Given the description of an element on the screen output the (x, y) to click on. 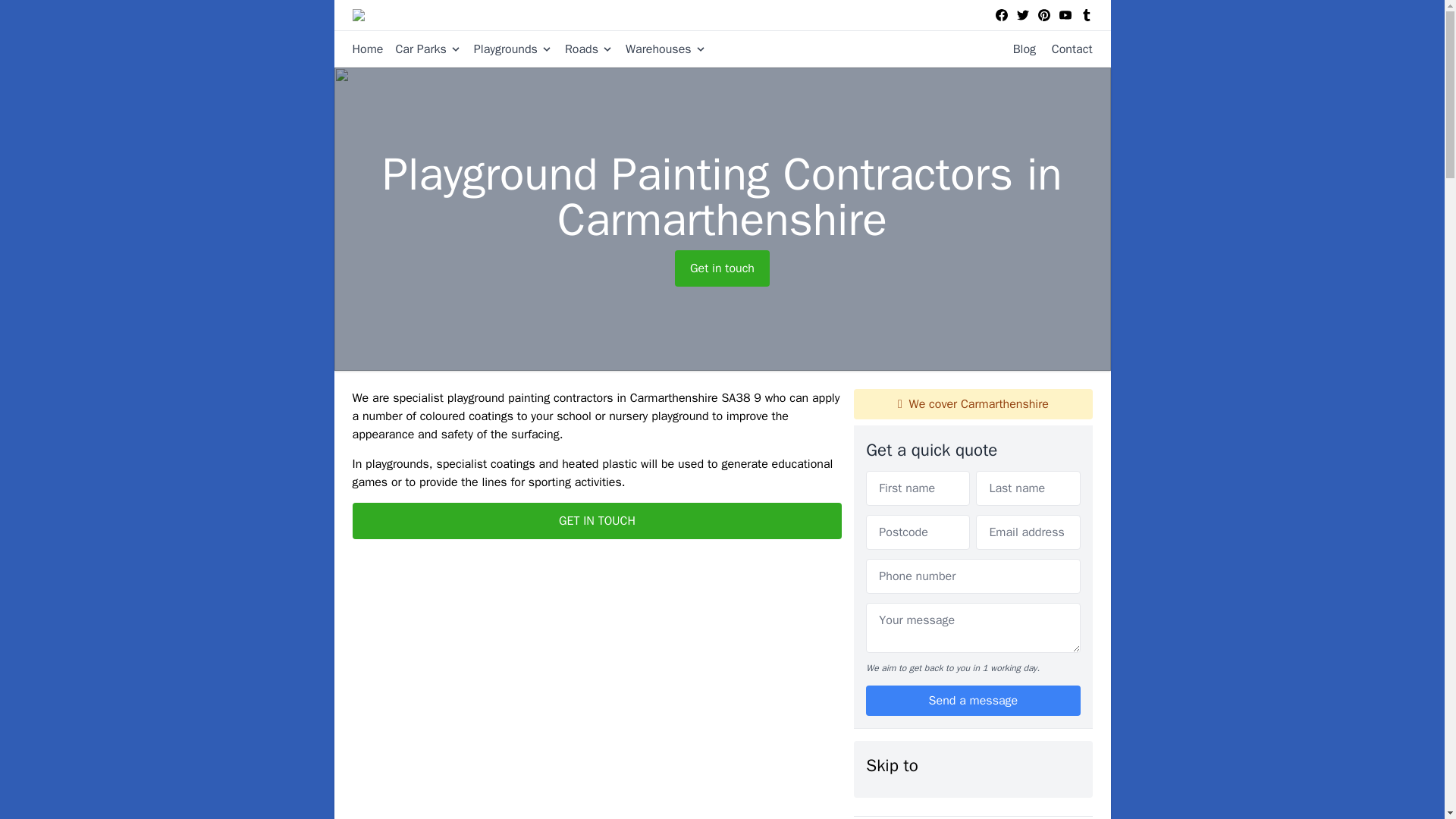
Playgrounds (507, 49)
Blog (1018, 48)
Contact (1066, 48)
Home (367, 49)
Warehouses (659, 49)
Car Parks (421, 49)
Roads (582, 49)
